Given the description of an element on the screen output the (x, y) to click on. 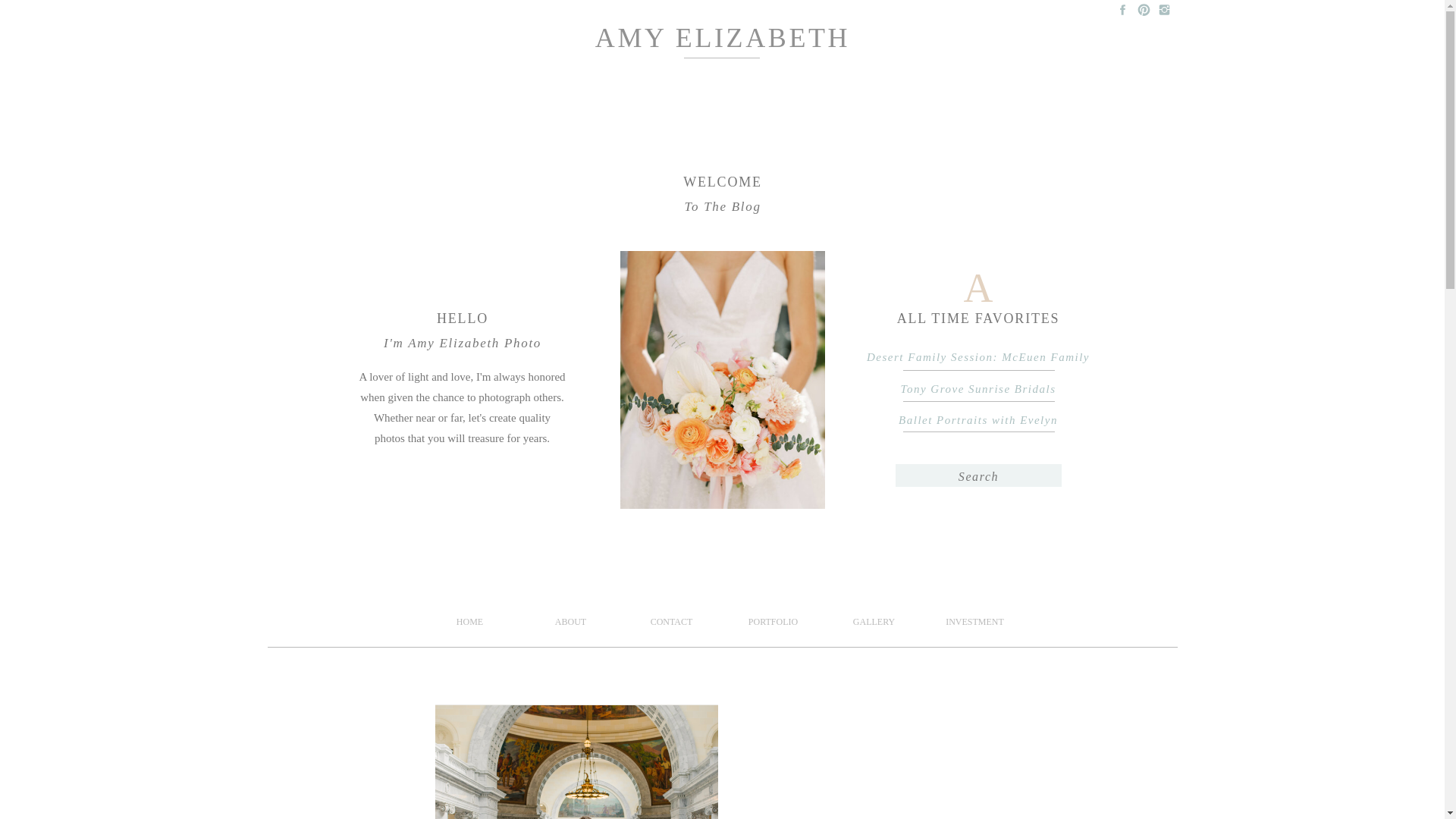
INVESTMENT (974, 626)
PORTFOLIO (772, 626)
HELLO (462, 320)
Ballet Portraits with Evelyn (978, 418)
AMY ELIZABETH (721, 46)
HOME (469, 626)
Tony Grove Sunrise Bridals (978, 387)
Desert Family Session: McEuen Family (978, 355)
CONTACT (670, 626)
WELCOME (723, 183)
GALLERY (874, 626)
ABOUT (571, 626)
